Given the description of an element on the screen output the (x, y) to click on. 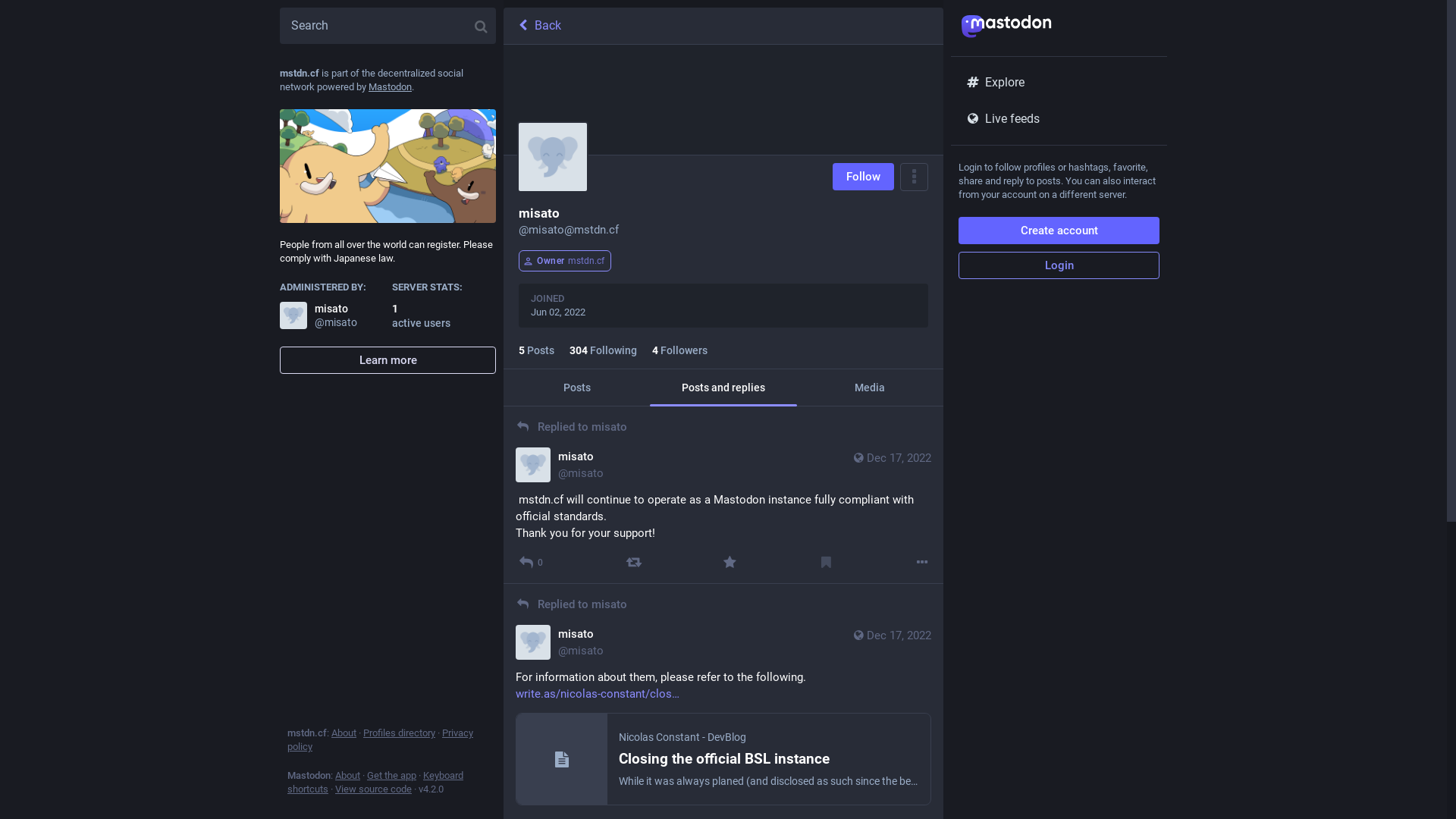
4 Followers Element type: text (679, 349)
Keyboard shortcuts Element type: text (375, 781)
Profiles directory Element type: text (399, 732)
Get the app Element type: text (391, 775)
More Element type: hover (922, 562)
misato
@misato Element type: text (559, 464)
Boost Element type: hover (633, 562)
Favorite Element type: hover (729, 562)
Back Element type: text (723, 25)
Live feeds Element type: text (1058, 118)
Public Element type: hover (858, 634)
Dec 17, 2022 Element type: text (890, 642)
misato
@misato Element type: text (559, 641)
Follow Element type: text (863, 176)
Learn more Element type: text (387, 359)
5 Posts Element type: text (536, 349)
misato Element type: text (609, 426)
304 Following Element type: text (602, 349)
Public Element type: hover (858, 457)
Bookmark Element type: hover (825, 562)
Create account Element type: text (1058, 230)
Privacy policy Element type: text (380, 739)
Explore Element type: text (1058, 82)
About Element type: text (347, 775)
Media Element type: text (870, 387)
About Element type: text (343, 732)
Posts Element type: text (576, 387)
0 Element type: text (530, 562)
Mastodon Element type: text (389, 86)
Login Element type: text (1058, 265)
Posts and replies Element type: text (722, 387)
misato
@misato Element type: text (331, 315)
Dec 17, 2022 Element type: text (890, 464)
misato Element type: text (609, 604)
Menu Element type: hover (914, 177)
View source code Element type: text (373, 788)
